Given the description of an element on the screen output the (x, y) to click on. 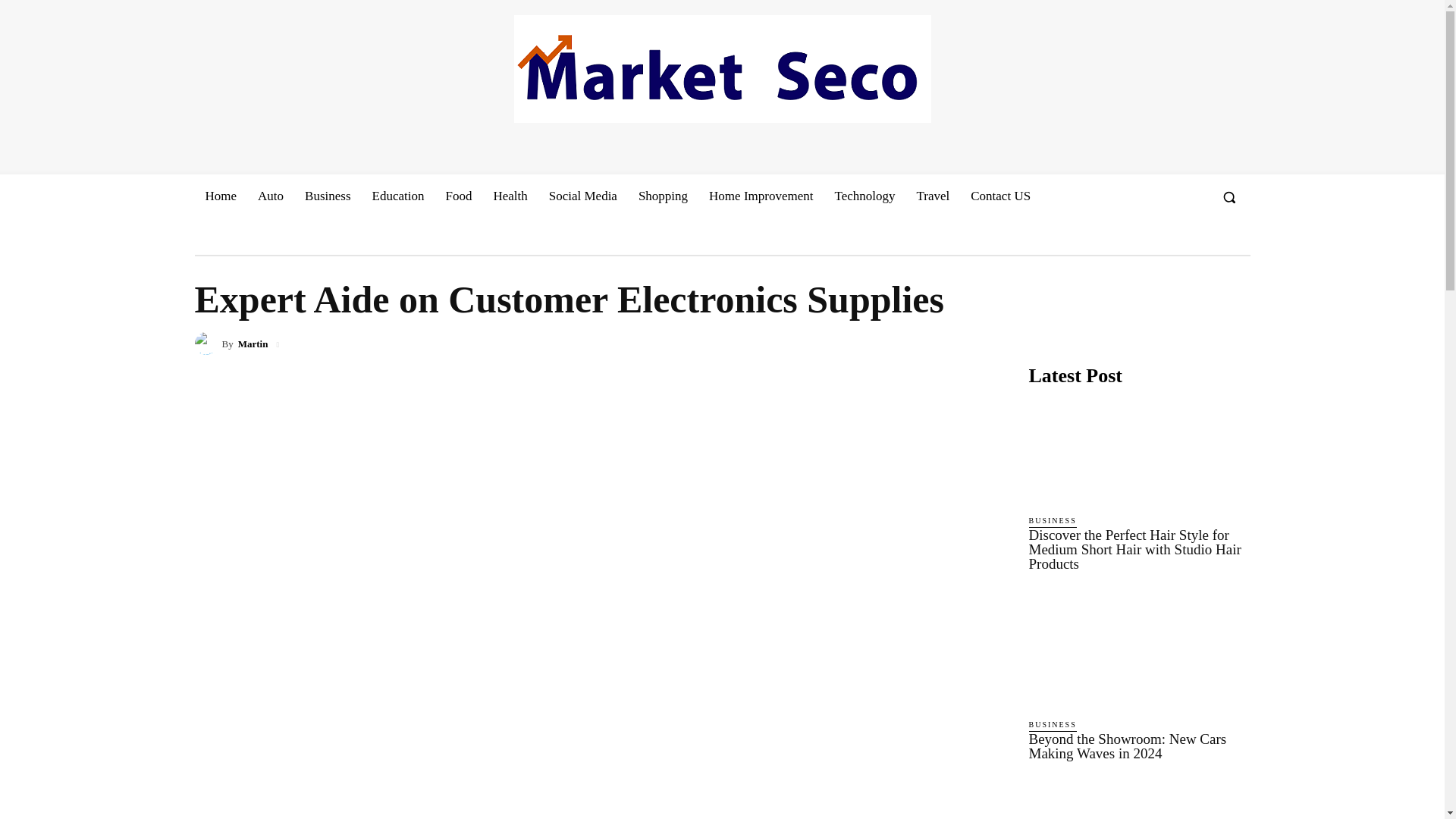
Shopping (662, 196)
Contact US (1000, 196)
Health (509, 196)
Business (327, 196)
Food (457, 196)
Home Improvement (761, 196)
Education (398, 196)
Travel (932, 196)
Auto (270, 196)
Social Media (582, 196)
Home (220, 196)
Technology (864, 196)
